Given the description of an element on the screen output the (x, y) to click on. 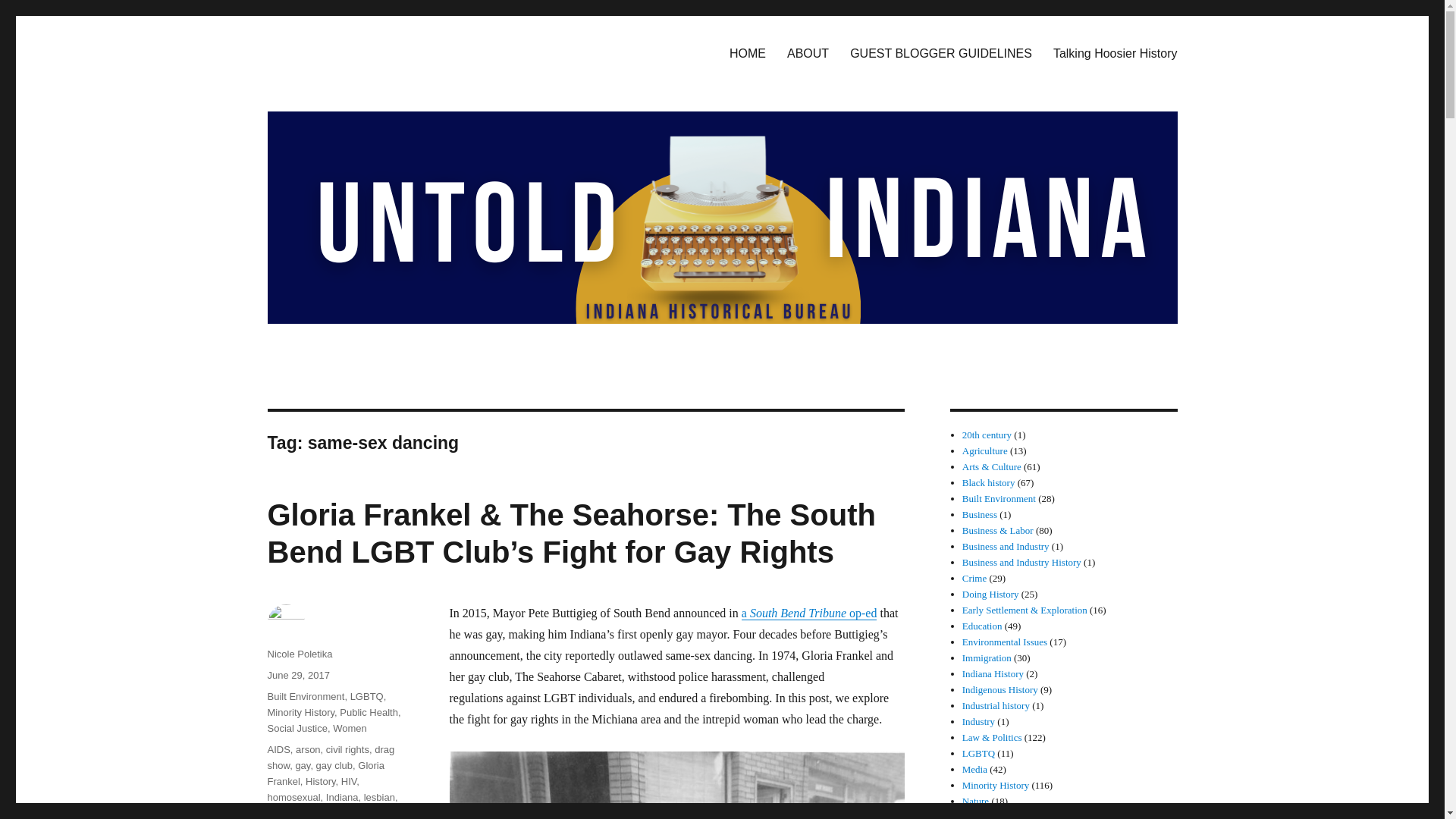
June 29, 2017 (297, 674)
LGBTQ (367, 696)
ABOUT (808, 52)
Built Environment (304, 696)
HOME (747, 52)
arson (307, 749)
gay (302, 765)
GUEST BLOGGER GUIDELINES (941, 52)
gay club (333, 765)
civil rights (347, 749)
Social Justice (296, 727)
drag show (330, 757)
The Indiana History Blog (391, 50)
Nicole Poletika (298, 654)
Public Health (368, 712)
